Given the description of an element on the screen output the (x, y) to click on. 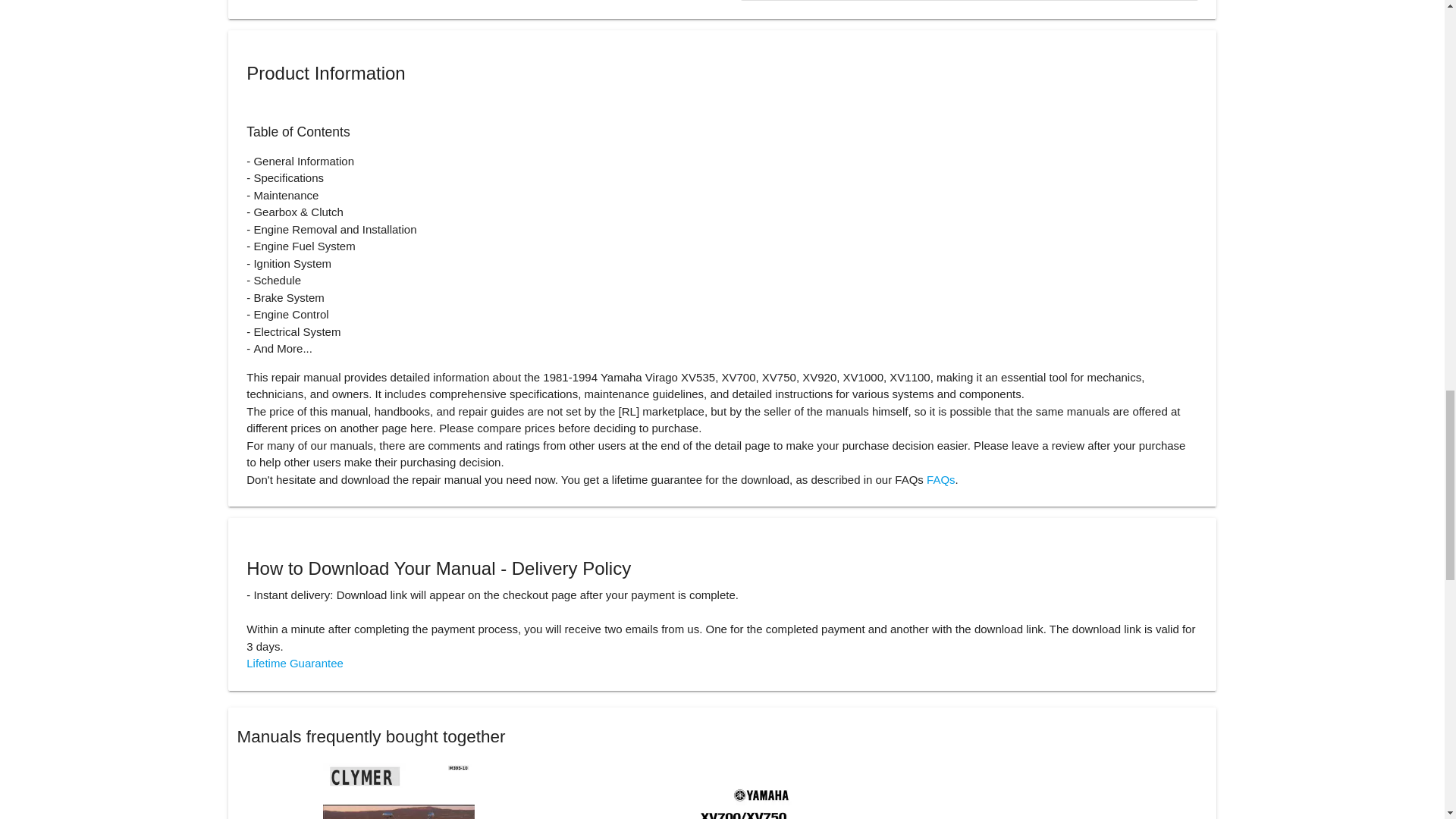
Lifetime Guarantee (294, 662)
FAQs (940, 479)
